Given the description of an element on the screen output the (x, y) to click on. 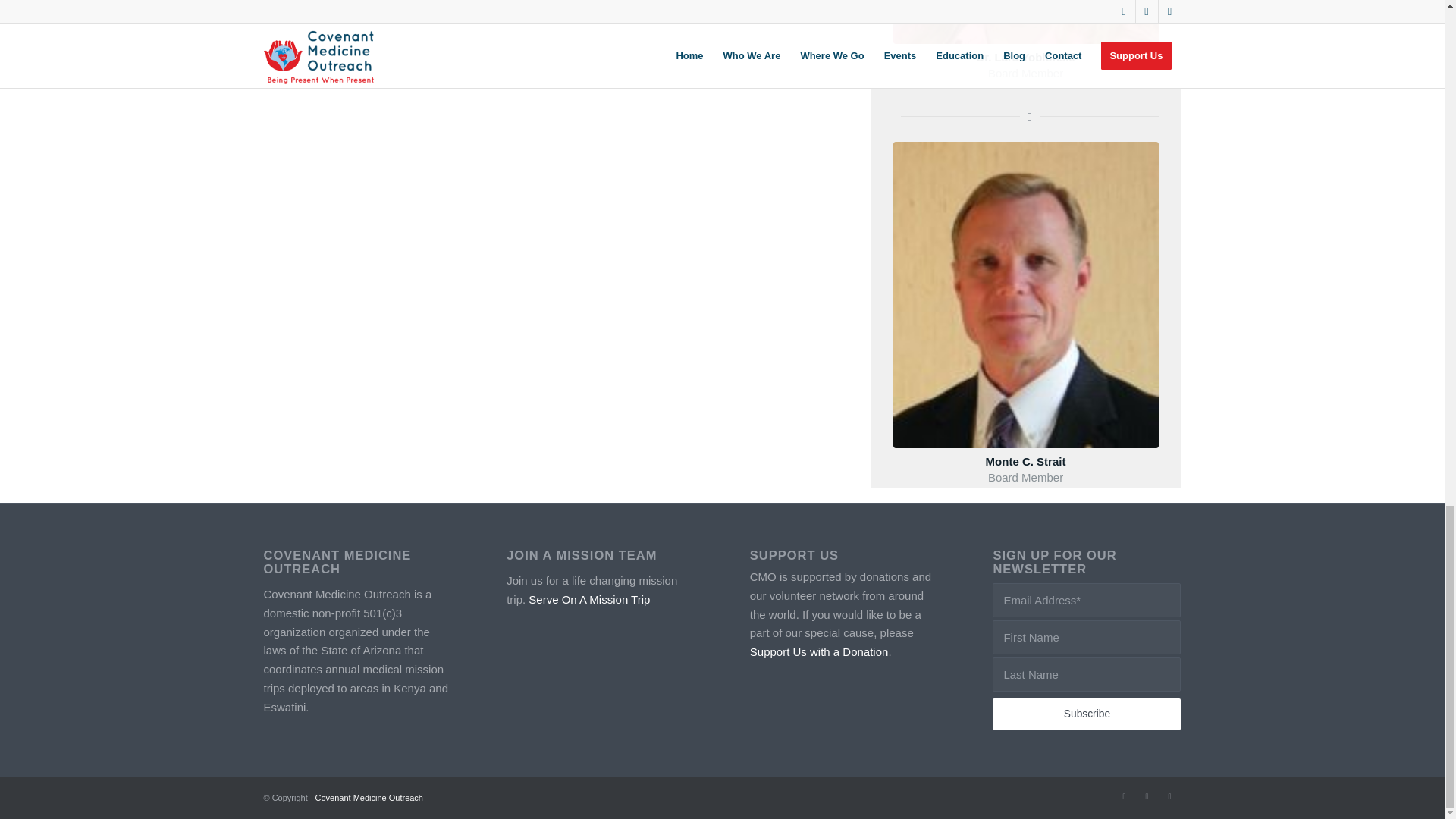
Serve On A Mission Trip (588, 599)
Subscribe (1086, 714)
Support Us with a Donation (818, 651)
Subscribe (1086, 714)
Instagram (1169, 795)
Facebook (1146, 795)
Twitter (1124, 795)
Covenant Medicine Outreach (369, 797)
